Given the description of an element on the screen output the (x, y) to click on. 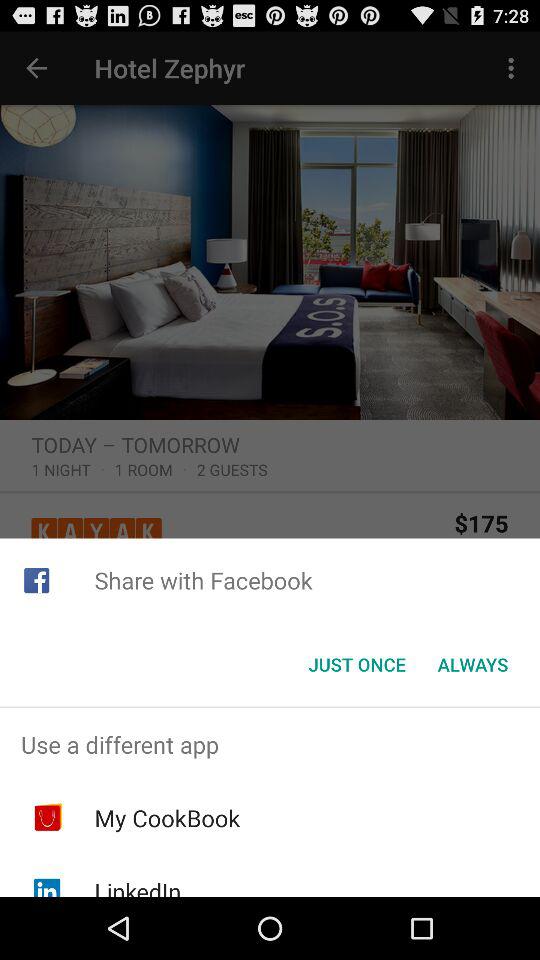
click the just once item (356, 664)
